Given the description of an element on the screen output the (x, y) to click on. 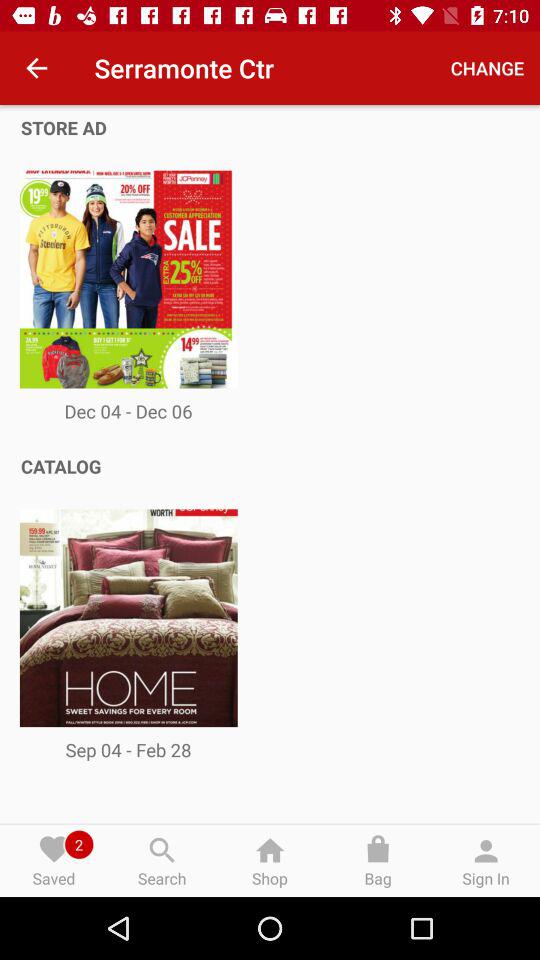
launch icon next to serramonte ctr item (487, 67)
